Given the description of an element on the screen output the (x, y) to click on. 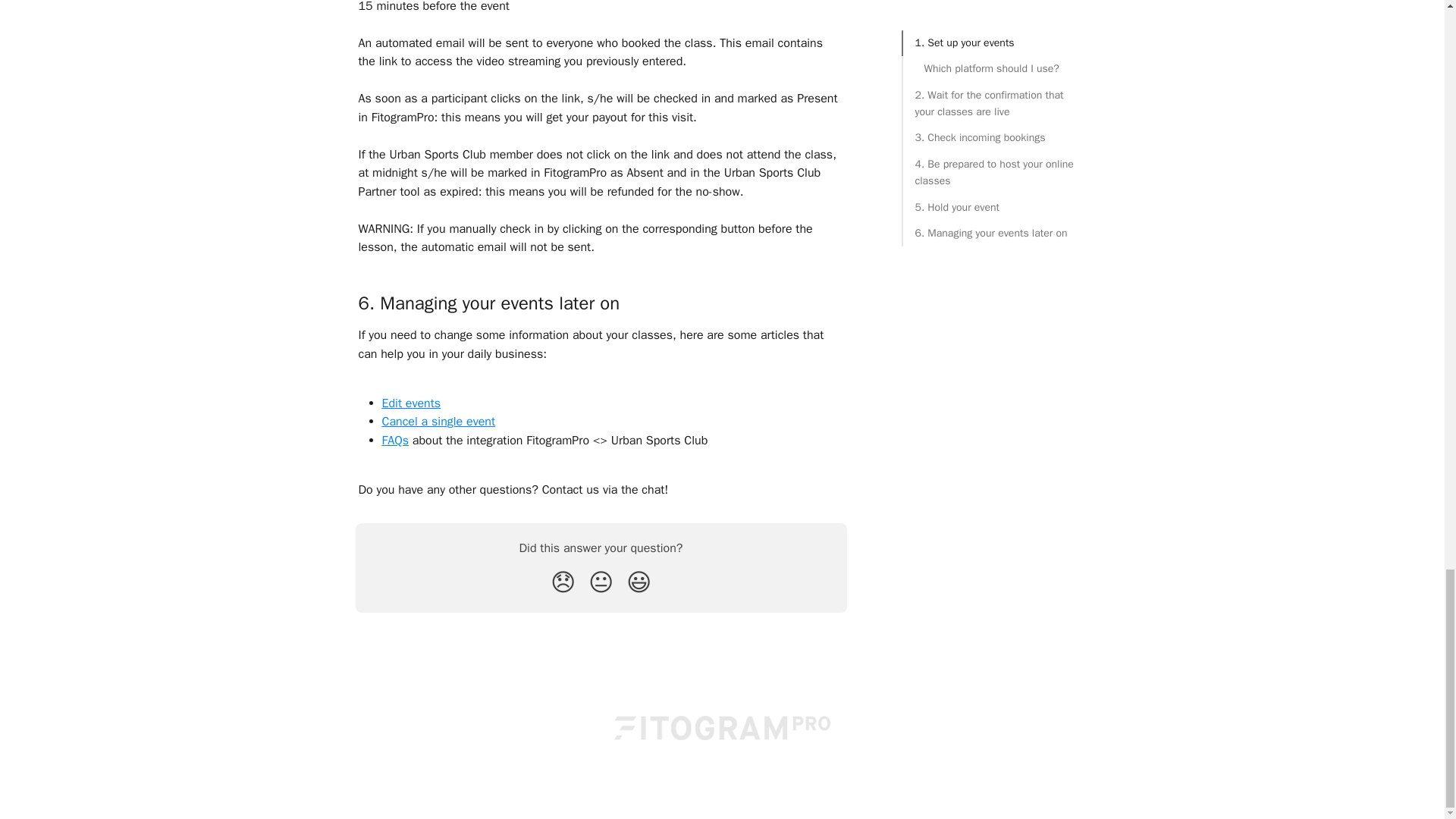
FAQs (395, 440)
Edit events (411, 403)
Cancel a single event (438, 421)
